Given the description of an element on the screen output the (x, y) to click on. 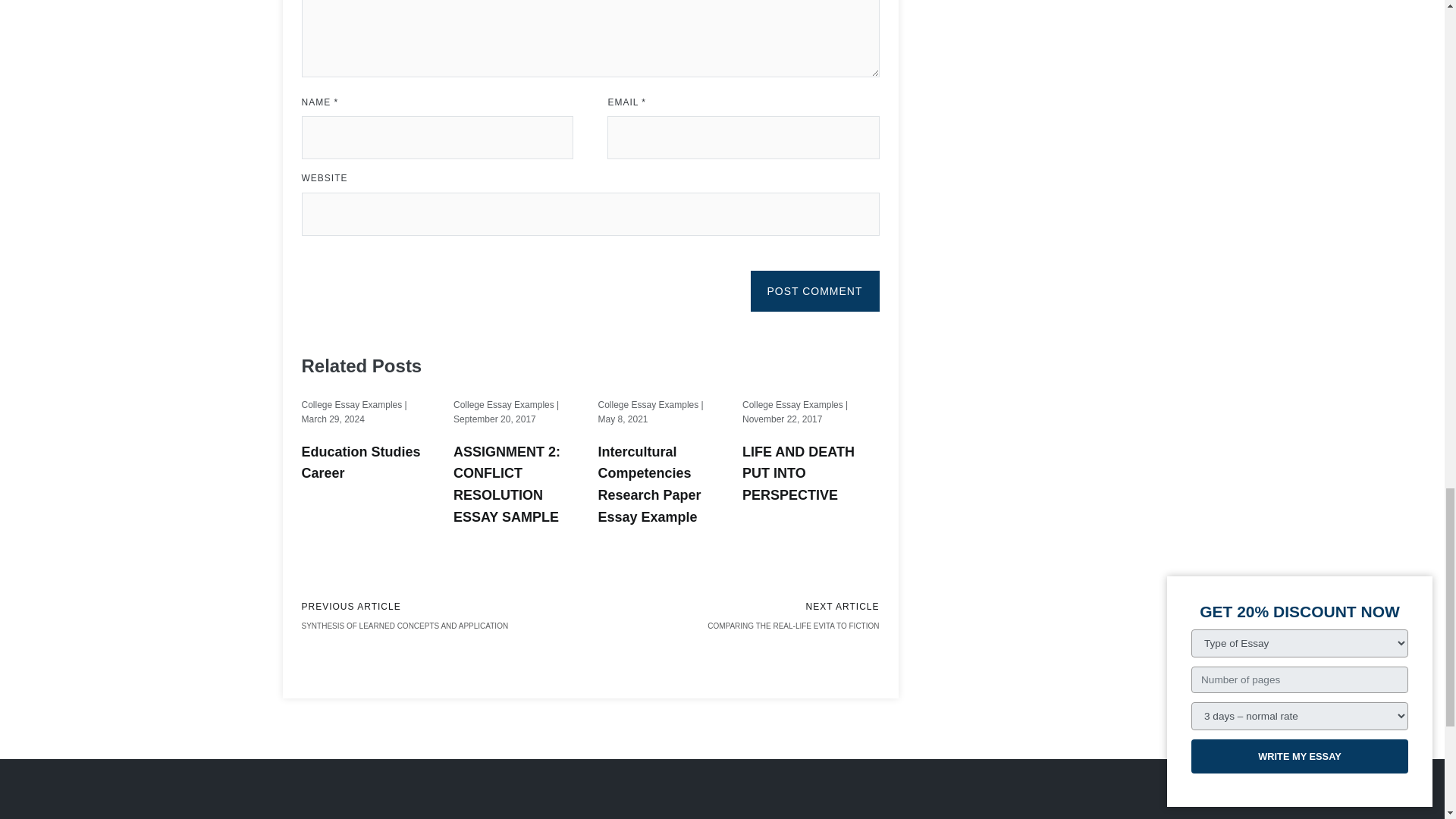
Post Comment (815, 291)
Post Comment (815, 291)
